Given the description of an element on the screen output the (x, y) to click on. 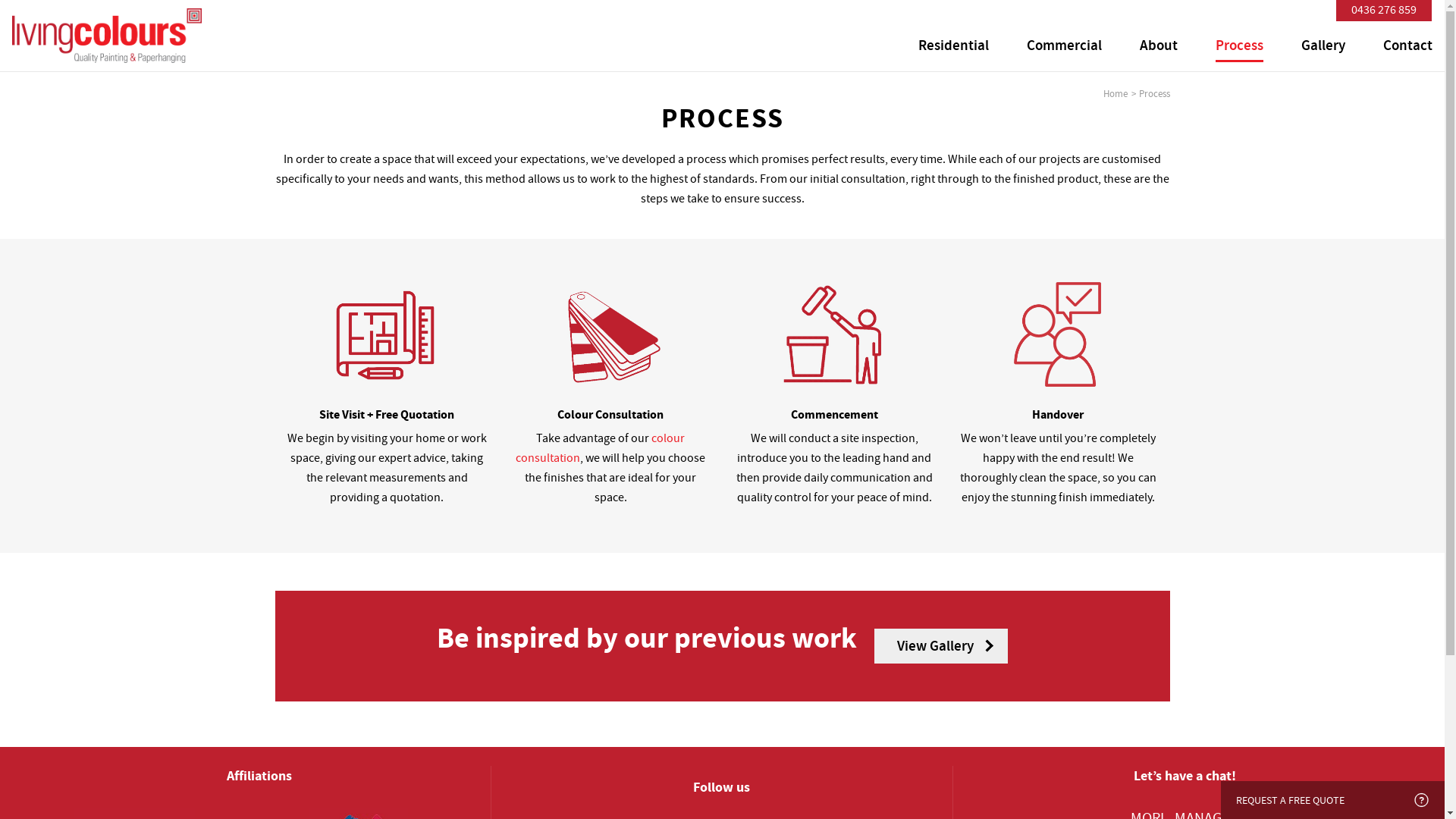
colour consultation Element type: text (599, 447)
Contact Element type: text (1407, 46)
View Gallery Element type: text (936, 643)
About Element type: text (1158, 46)
Home Element type: text (1114, 93)
Gallery Element type: text (1323, 46)
Residential Element type: text (953, 46)
Process Element type: text (1239, 46)
Commercial Element type: text (1063, 46)
